Given the description of an element on the screen output the (x, y) to click on. 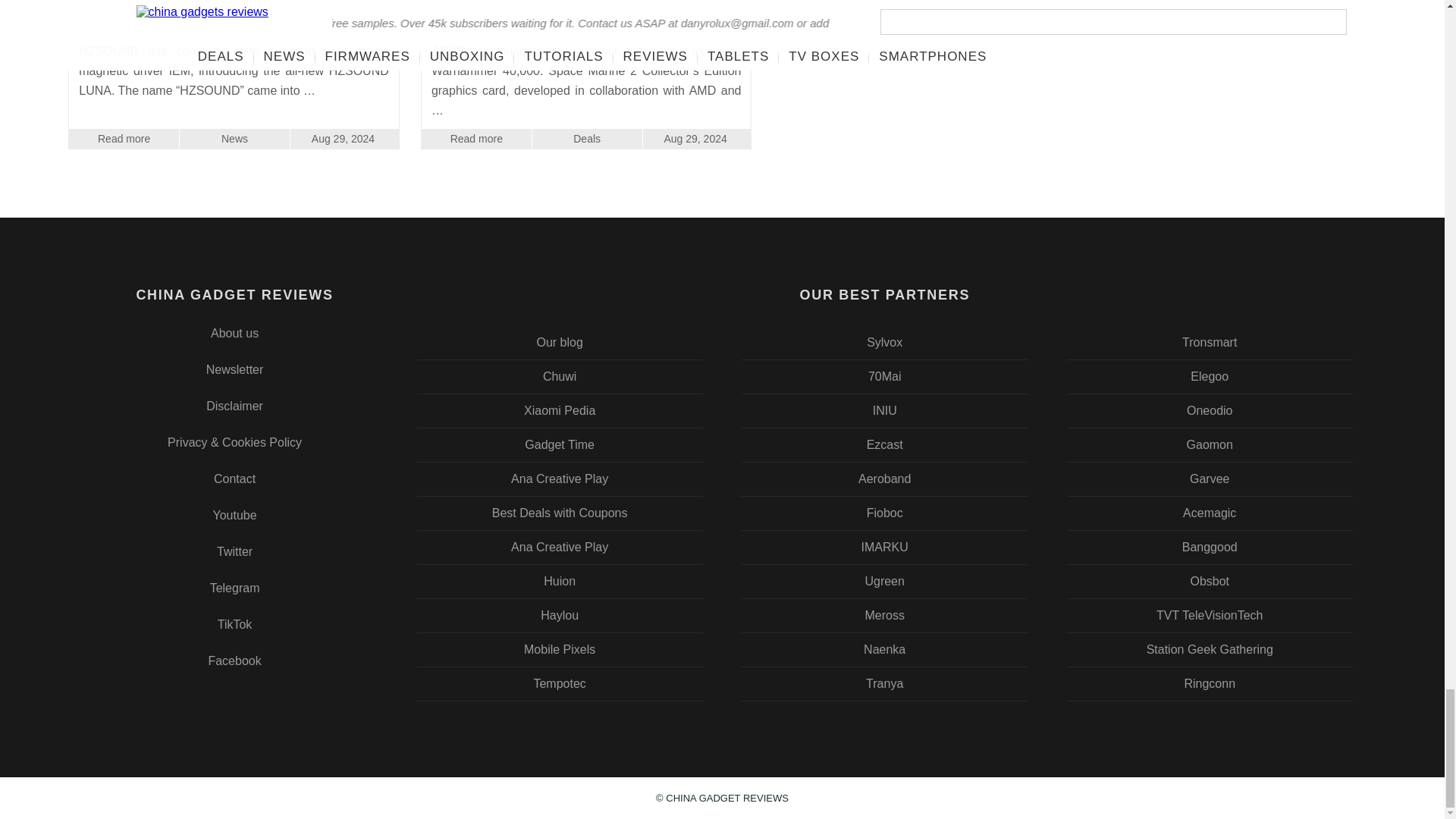
Meross: Simple Device, Simplify Your Life (885, 615)
Best outdoor TV, Bathroom TV, RV TV and kitchen TV for sale (885, 342)
IMARKU Official website (885, 547)
Best Deals with Coupons (559, 512)
Chargers, USB Hubs, Docking Stations, and More (885, 581)
Huion Official Website (559, 581)
Universal wireless screen mirroring solution (885, 444)
Haylou website (559, 615)
Fioboc Official Website (885, 512)
anacreativeplay (559, 547)
